Given the description of an element on the screen output the (x, y) to click on. 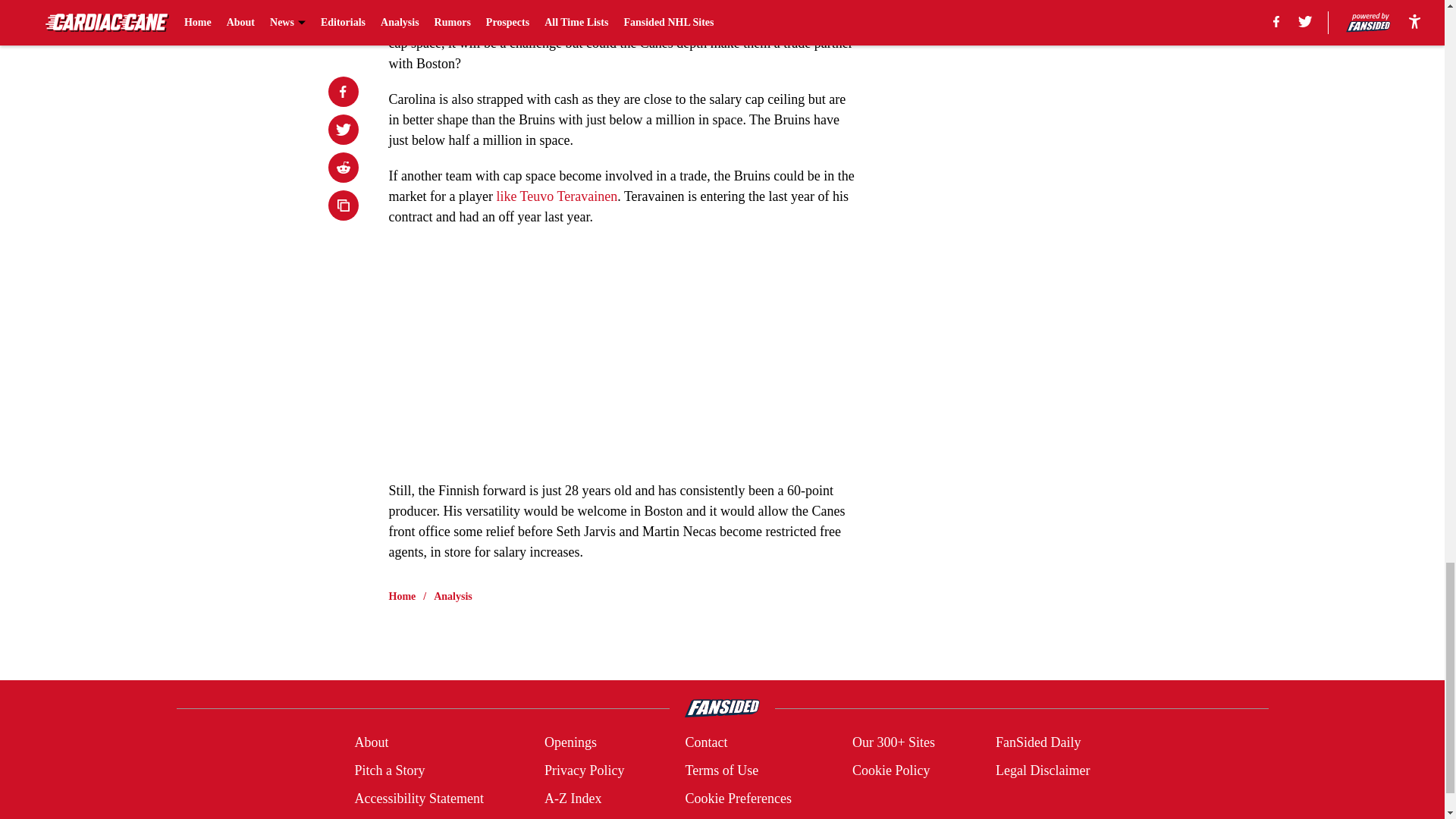
Legal Disclaimer (1042, 770)
Home (401, 596)
Cookie Policy (890, 770)
Pitch a Story (389, 770)
FanSided Daily (1038, 742)
Privacy Policy (584, 770)
like Teuvo Teravainen (556, 196)
Contact (705, 742)
Terms of Use (721, 770)
Analysis (452, 596)
